Given the description of an element on the screen output the (x, y) to click on. 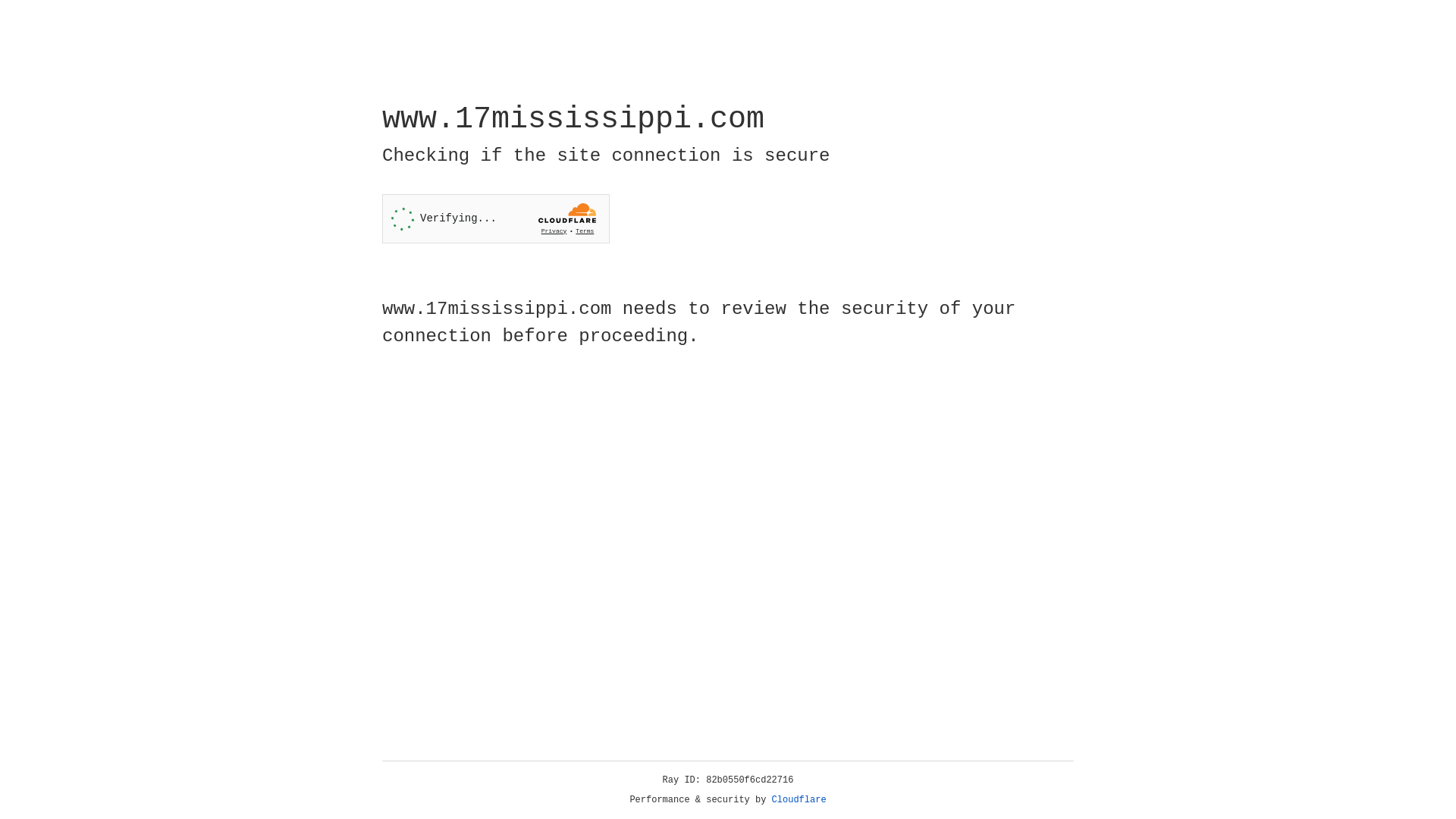
Cloudflare Element type: text (798, 799)
Widget containing a Cloudflare security challenge Element type: hover (495, 218)
